Given the description of an element on the screen output the (x, y) to click on. 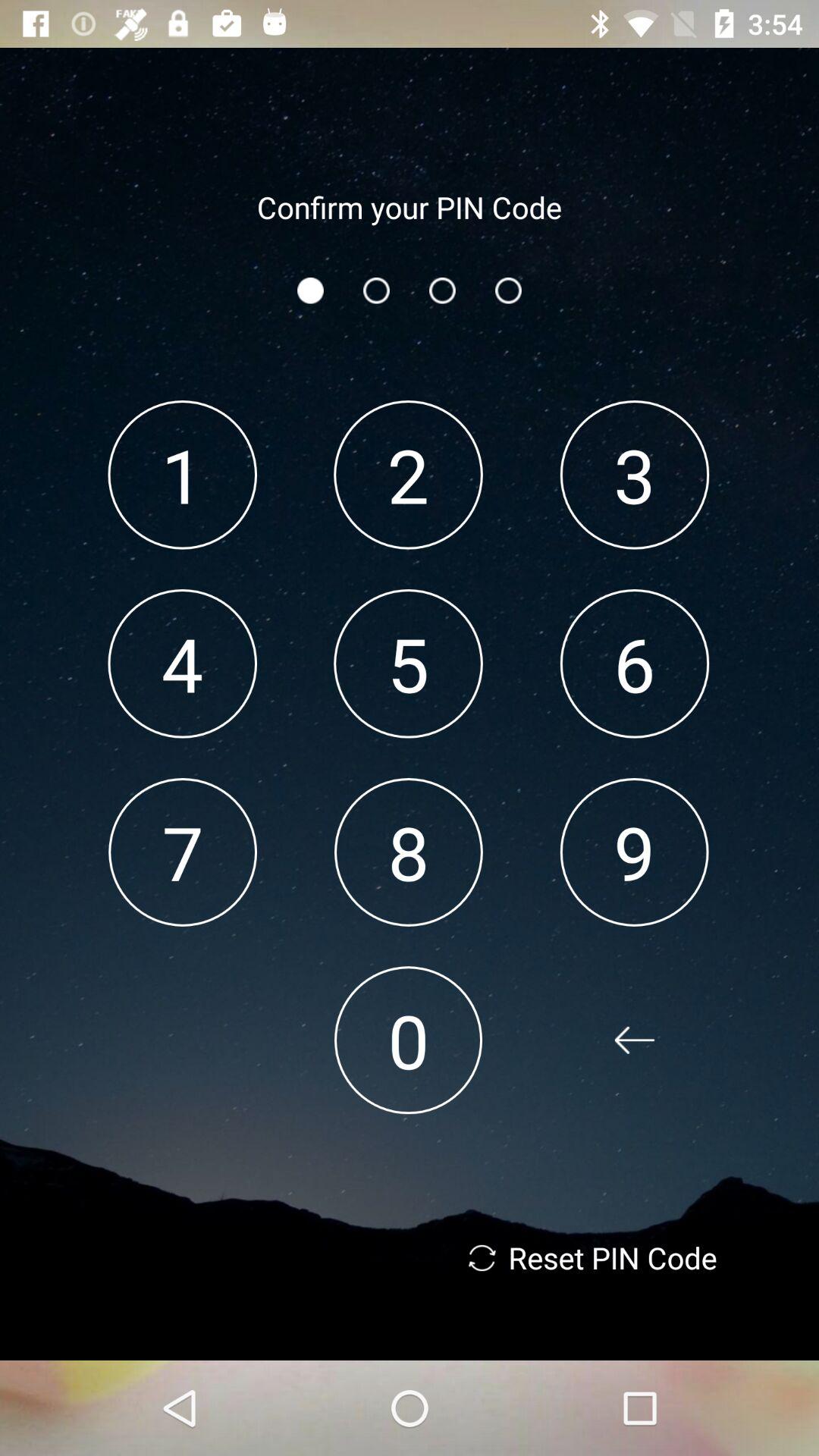
press the 4 item (182, 663)
